Given the description of an element on the screen output the (x, y) to click on. 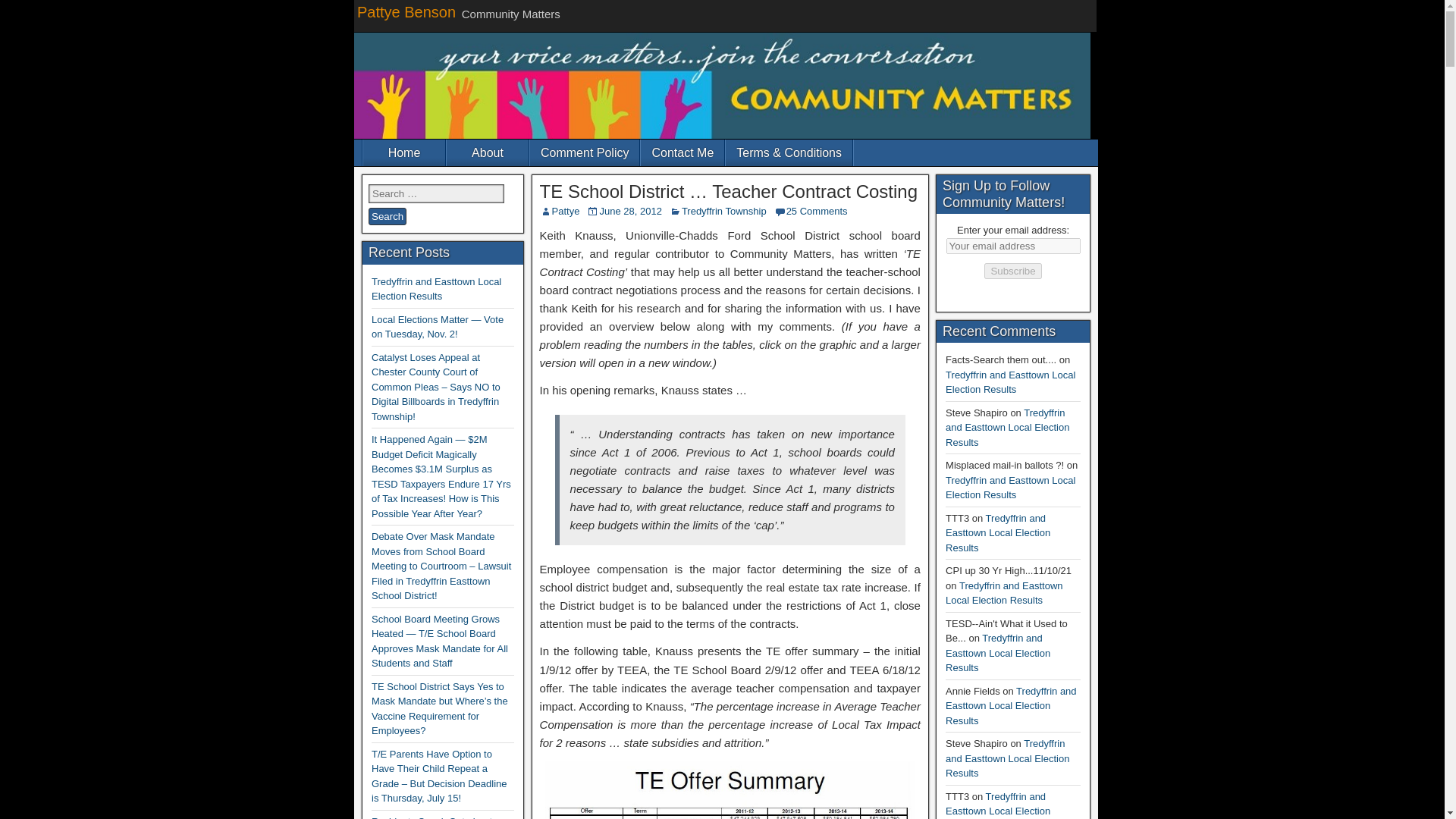
Search (387, 216)
Knauss 1 (729, 790)
Pattye (565, 211)
Home (403, 152)
Tredyffrin Township (724, 211)
June 28, 2012 (629, 211)
25 Comments (816, 211)
Comment Policy (584, 152)
Subscribe (1012, 270)
Contact Me (681, 152)
About (487, 152)
Search (387, 216)
Pattye Benson (405, 12)
